Given the description of an element on the screen output the (x, y) to click on. 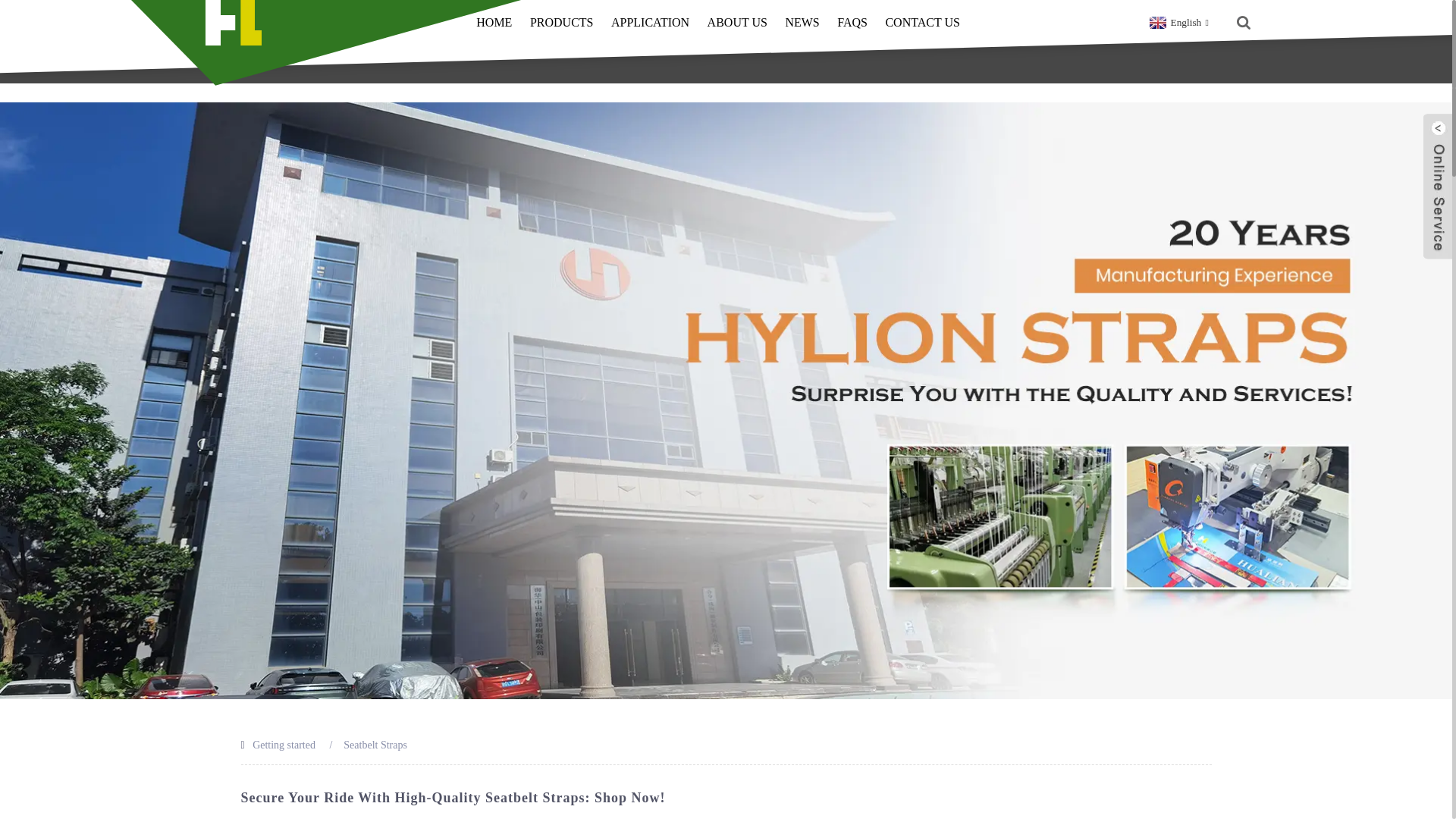
CONTACT US (922, 22)
APPLICATION (649, 22)
Seatbelt Straps (375, 745)
ABOUT US (737, 22)
PRODUCTS (561, 22)
Getting started (283, 745)
English (1176, 21)
